Given the description of an element on the screen output the (x, y) to click on. 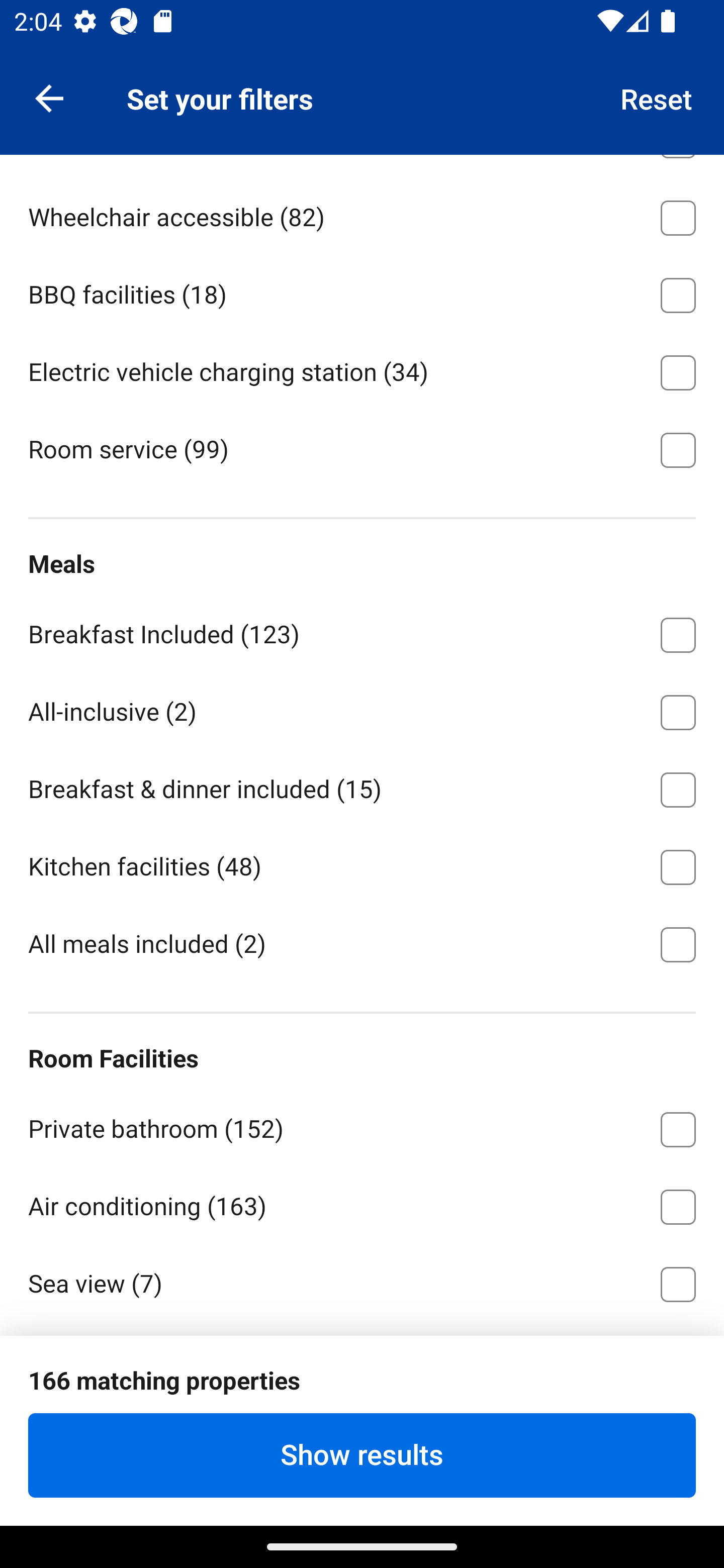
Navigate up (49, 97)
Reset (656, 97)
Wheelchair accessible ⁦(82) (361, 214)
BBQ facilities ⁦(18) (361, 292)
Electric vehicle charging station ⁦(34) (361, 368)
Room service ⁦(99) (361, 448)
Breakfast Included ⁦(123) (361, 631)
All-inclusive ⁦(2) (361, 709)
Breakfast & dinner included ⁦(15) (361, 785)
Kitchen facilities ⁦(48) (361, 863)
All meals included ⁦(2) (361, 943)
Private bathroom ⁦(152) (361, 1126)
Air conditioning ⁦(163) (361, 1203)
Sea view ⁦(7) (361, 1280)
Show results (361, 1454)
